Given the description of an element on the screen output the (x, y) to click on. 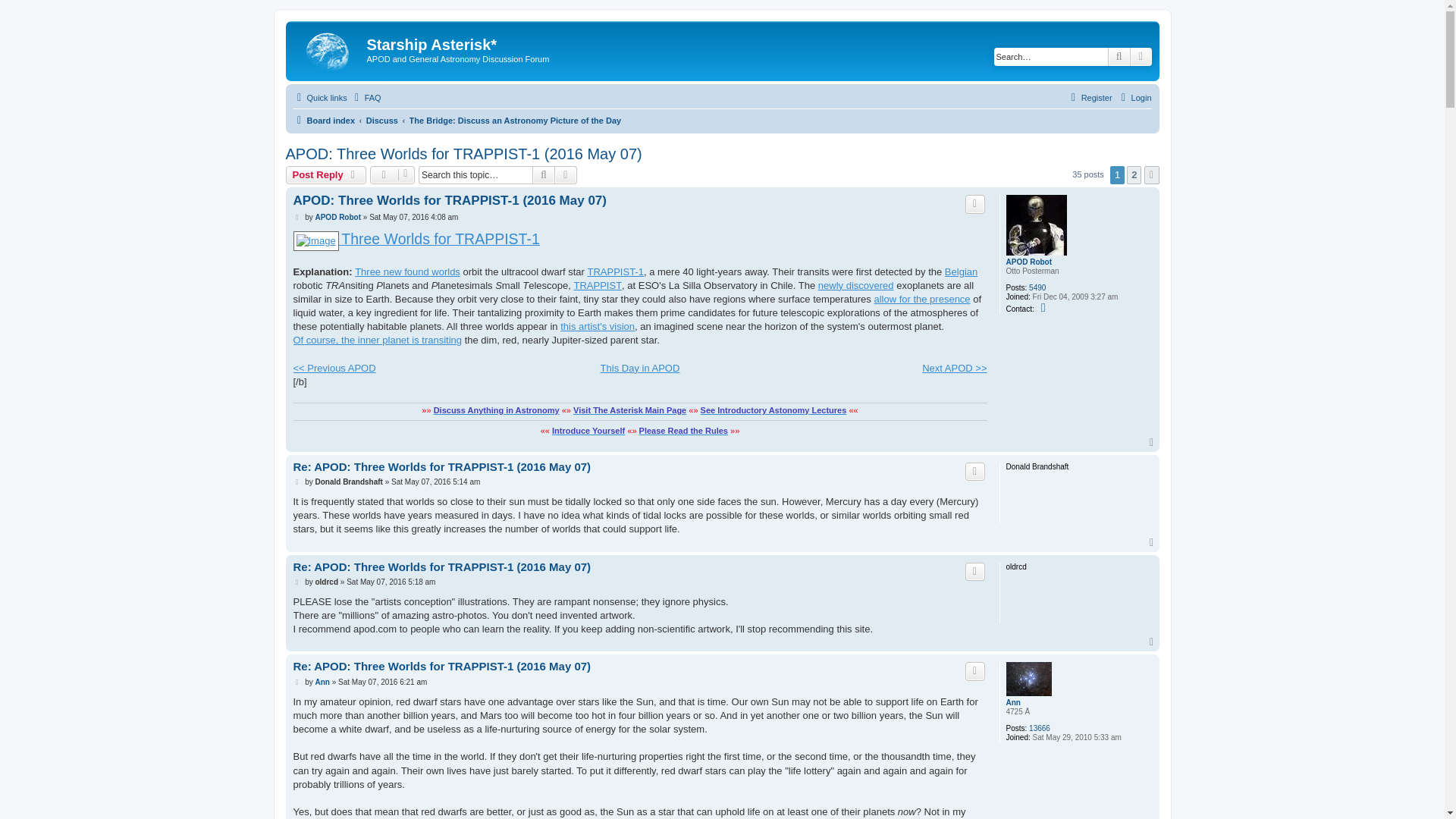
Discuss (381, 120)
Three new found worlds (407, 272)
Quick links (319, 97)
Advanced search (1141, 56)
Login (1134, 97)
TRAPPIST-1 (615, 272)
FAQ (365, 97)
Search (1119, 56)
Contact APOD Robot (1044, 307)
Search (1119, 56)
